Given the description of an element on the screen output the (x, y) to click on. 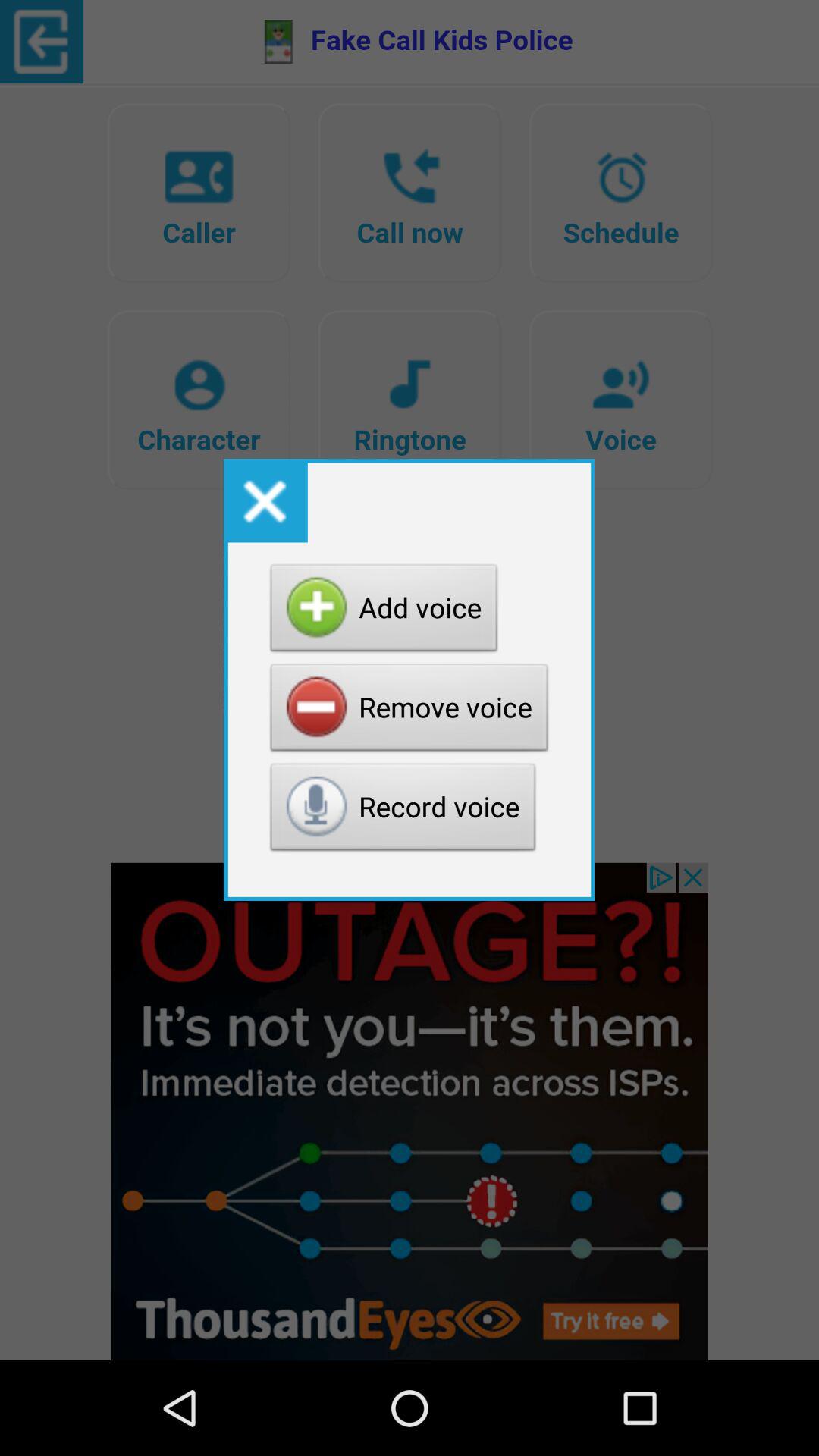
click item below add voice button (409, 711)
